Given the description of an element on the screen output the (x, y) to click on. 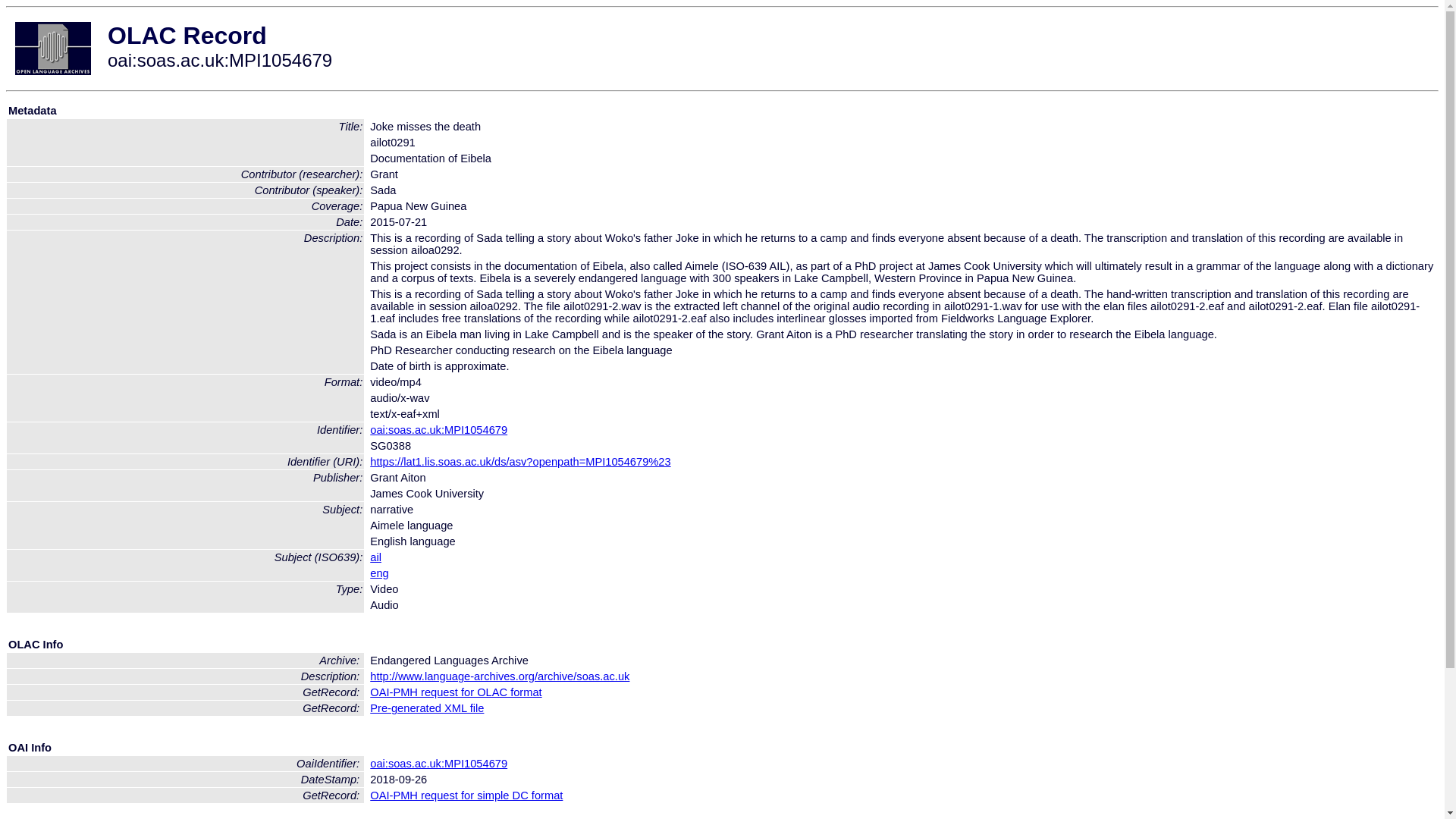
oai:soas.ac.uk:MPI1054679 (437, 763)
OAI-PMH request for simple DC format (465, 795)
ail (375, 557)
oai:soas.ac.uk:MPI1054679 (437, 429)
OAI-PMH request for OLAC format (455, 692)
eng (378, 573)
Pre-generated XML file (426, 707)
